Given the description of an element on the screen output the (x, y) to click on. 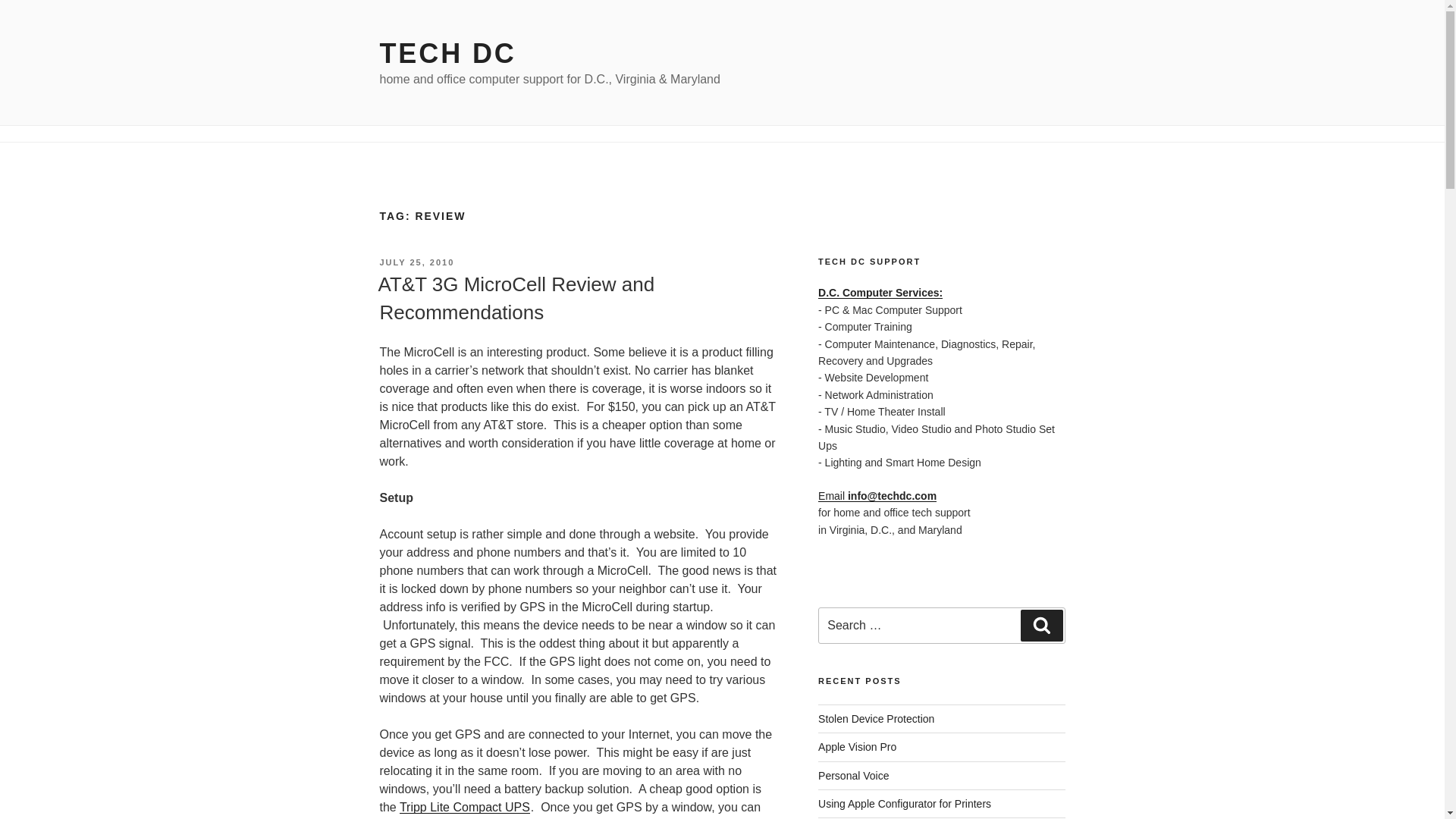
Using Apple Configurator for Printers (904, 803)
Tripp Lite Compact UPS (463, 807)
Apple Vision Pro (857, 746)
Search (1041, 625)
TECH DC (446, 52)
JULY 25, 2010 (416, 261)
Stolen Device Protection (876, 718)
D.C. Computer Services: (880, 292)
Personal Voice (853, 775)
